Given the description of an element on the screen output the (x, y) to click on. 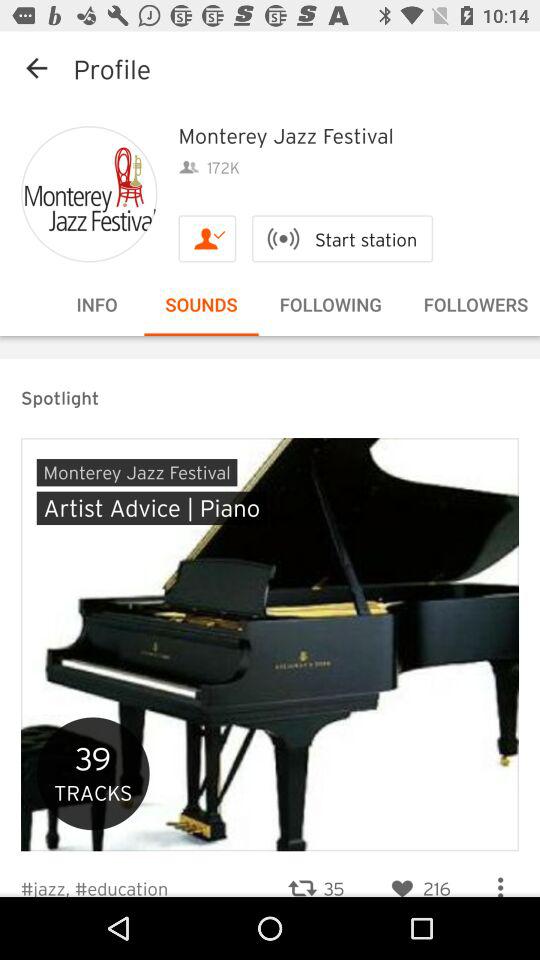
select icon below info item (270, 335)
